Given the description of an element on the screen output the (x, y) to click on. 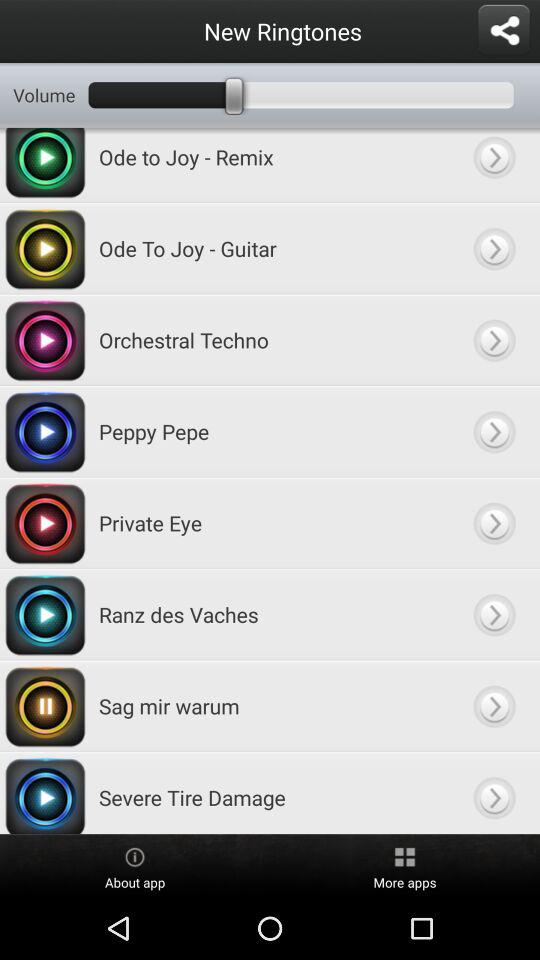
play ranz des vaches selection (494, 614)
